Given the description of an element on the screen output the (x, y) to click on. 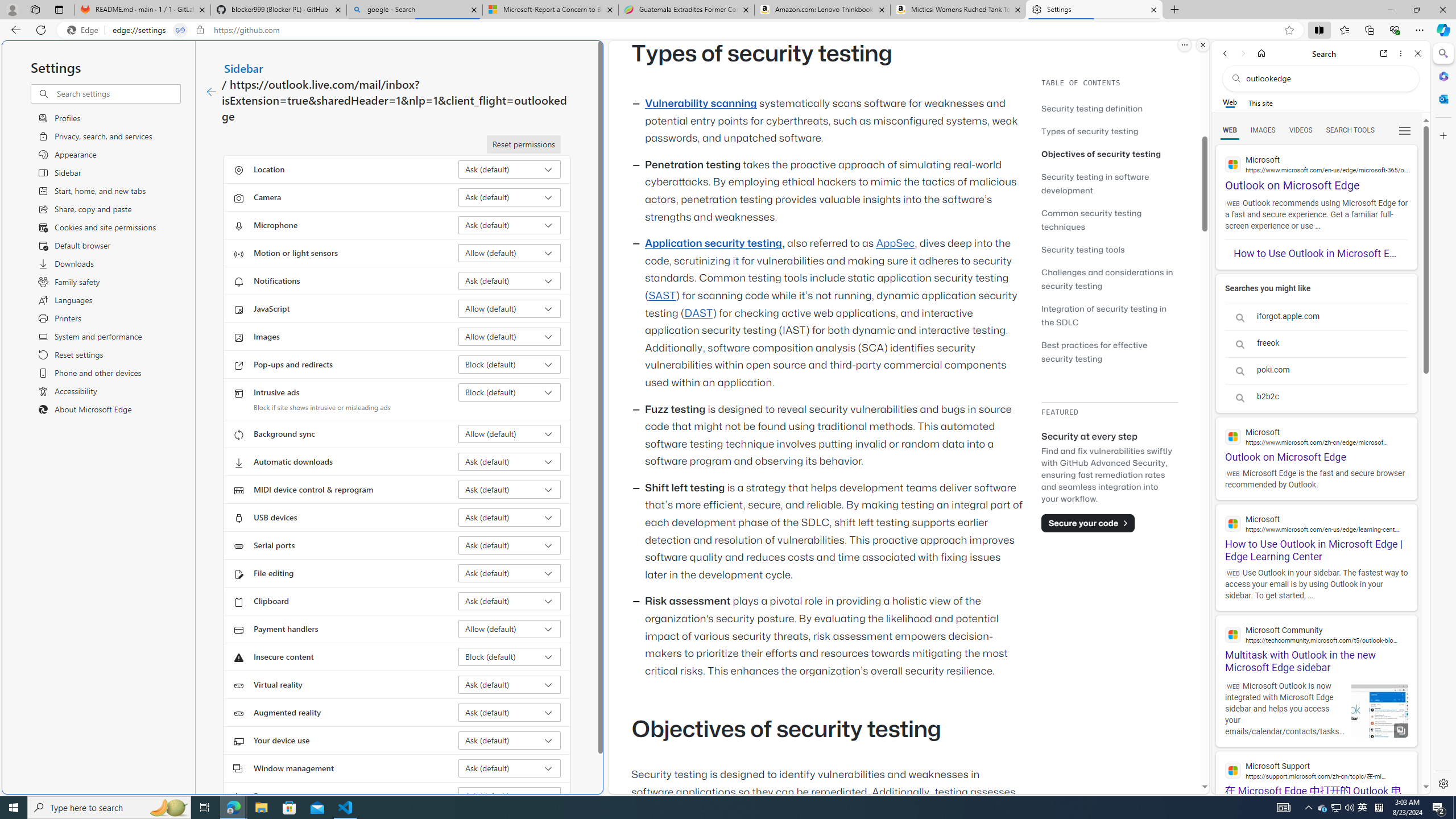
Your device use Ask (default) (509, 740)
Common security testing techniques (1091, 219)
Integration of security testing in the SDLC (1104, 314)
Microsoft Community (1315, 634)
Security testing definition (1109, 108)
MIDI device control & reprogram Ask (default) (509, 489)
Reset permissions (523, 144)
poki.com (1315, 370)
Multitask with Outlook in the new Microsoft Edge sidebar (1315, 644)
